Given the description of an element on the screen output the (x, y) to click on. 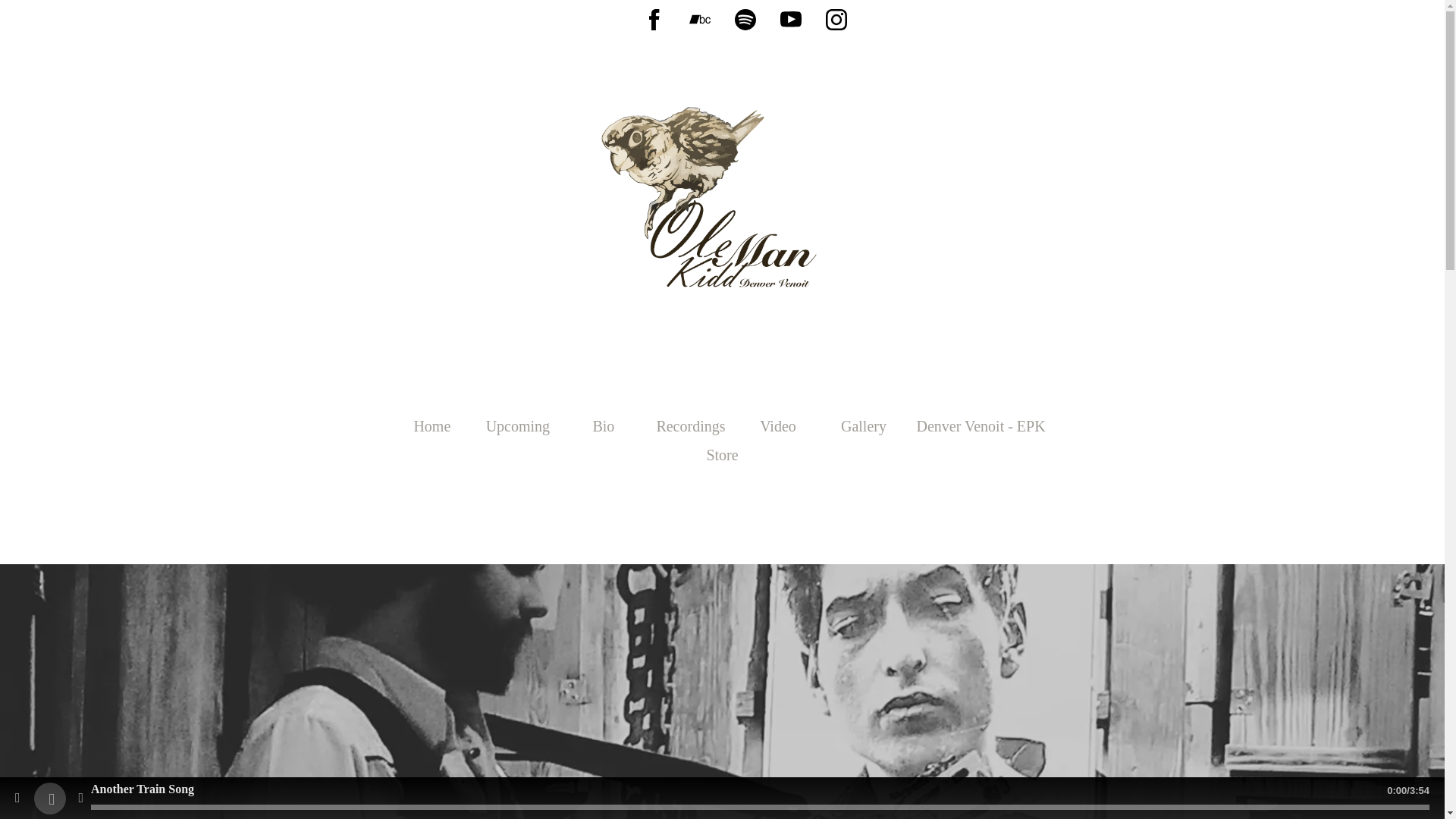
Denver Venoit - EPK (980, 425)
Bio (603, 425)
Video (778, 425)
Recordings (689, 425)
Store (722, 454)
Upcoming (518, 425)
Gallery (863, 425)
Home (432, 425)
